Given the description of an element on the screen output the (x, y) to click on. 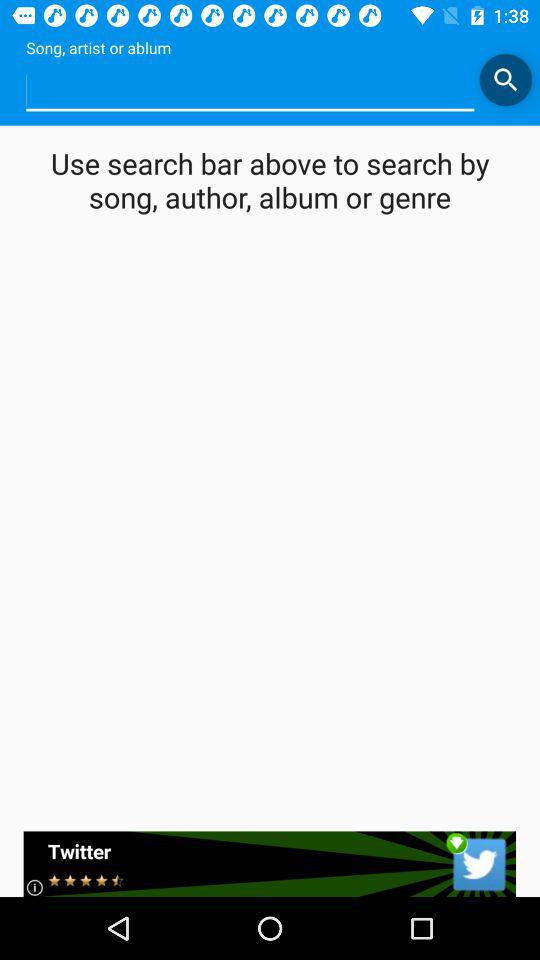
search for artist or album (505, 79)
